Given the description of an element on the screen output the (x, y) to click on. 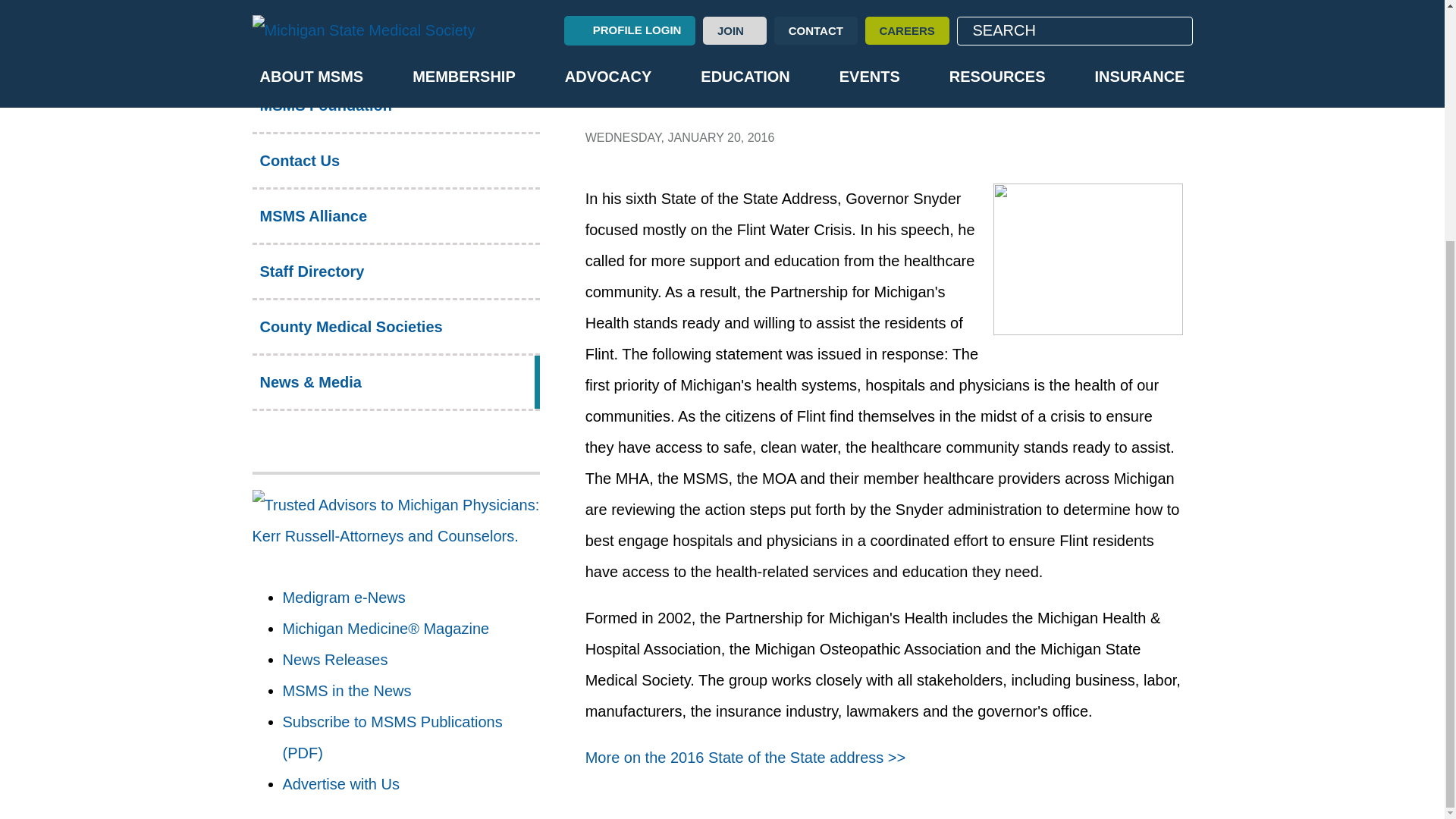
MSMS Alliance (394, 215)
Staff Directory (394, 271)
Contact Us (394, 160)
Kerr Russell-Attorneys At Law (394, 520)
House of Delegates (394, 10)
MSMS Foundation (394, 104)
Membership Sections (394, 49)
